Given the description of an element on the screen output the (x, y) to click on. 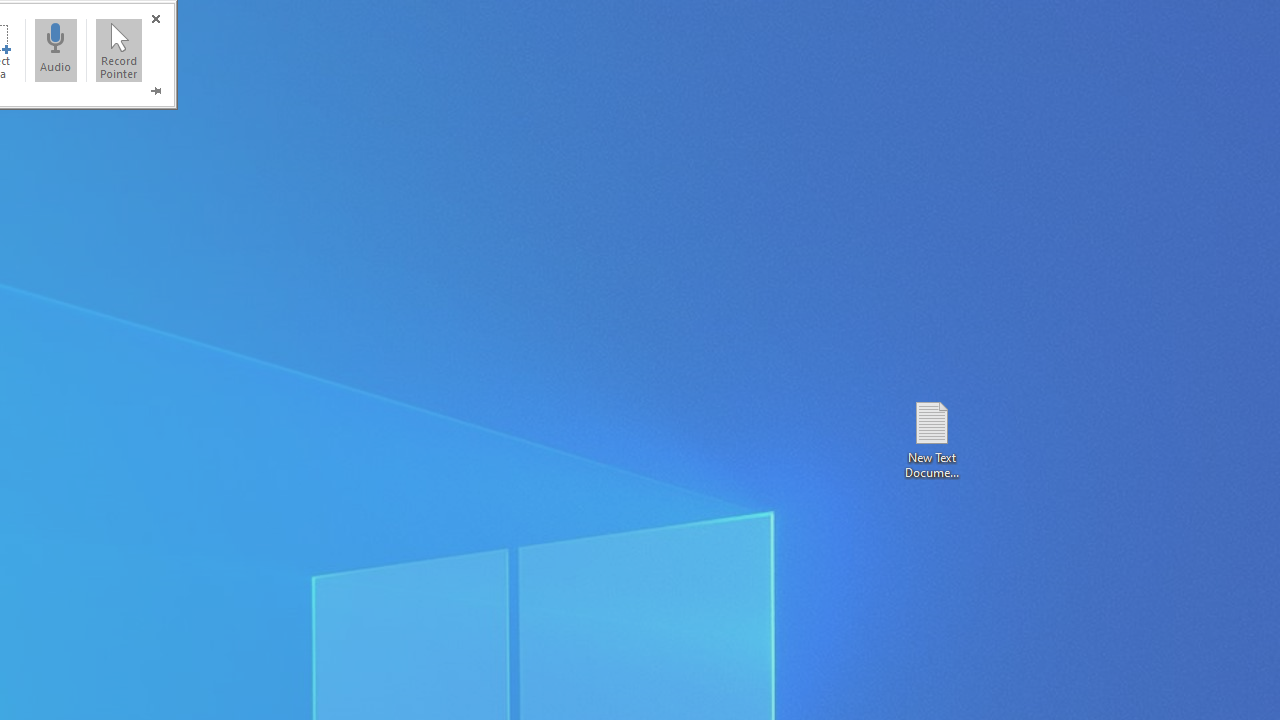
Close (Windows logo key+Shift+Q) (155, 18)
Pin the Dock (Windows logo key+Shift+I) (155, 90)
Audio (55, 50)
Record Pointer (119, 50)
